Given the description of an element on the screen output the (x, y) to click on. 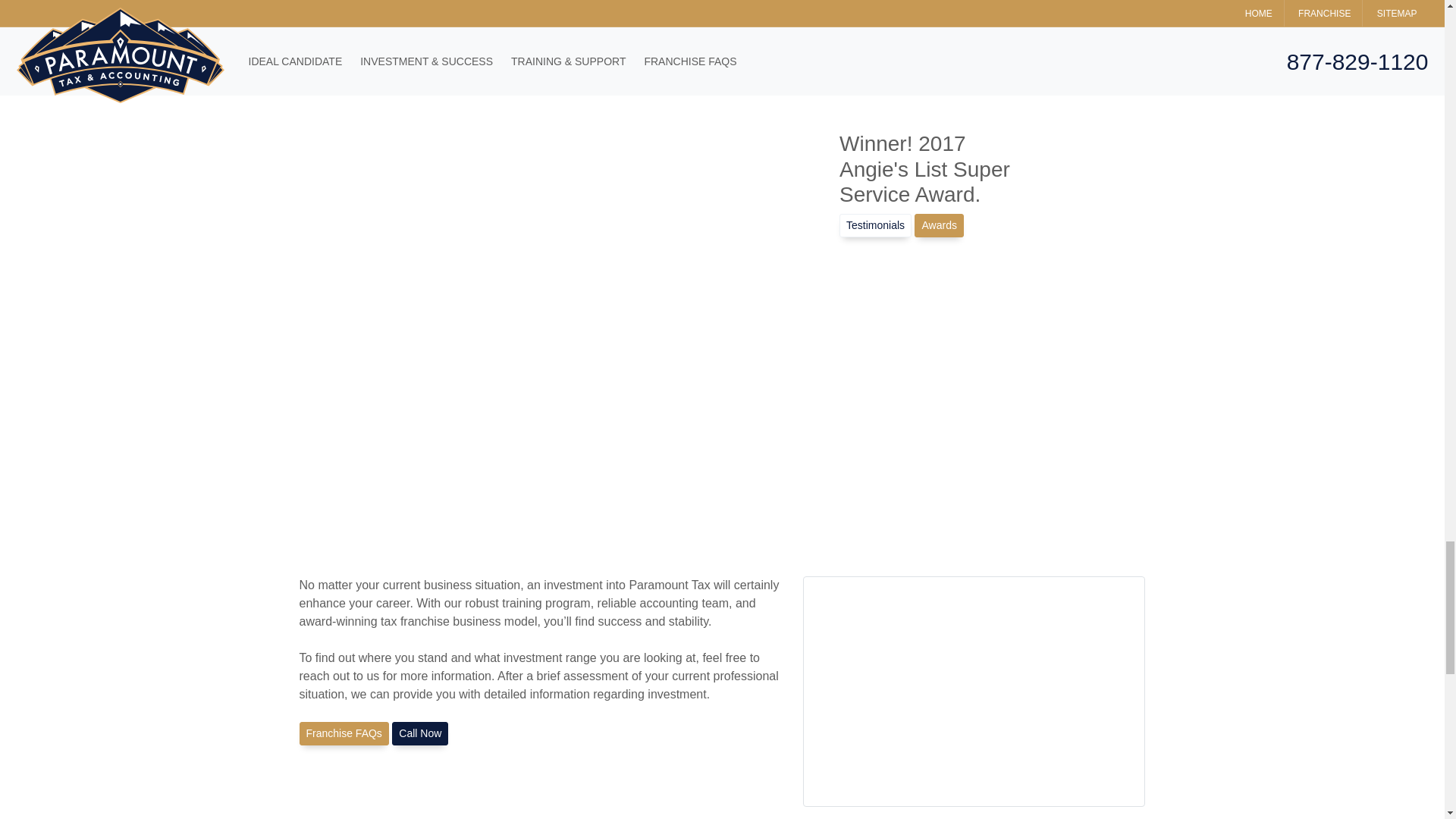
Tax Preparation Franchise (343, 733)
awarded (938, 225)
Tax Franchise Opportunities (419, 733)
Awards (938, 225)
Franchise FAQs (343, 733)
Preparation Franchise (973, 691)
Call Now (419, 733)
reviews (875, 225)
Testimonials (875, 225)
